Given the description of an element on the screen output the (x, y) to click on. 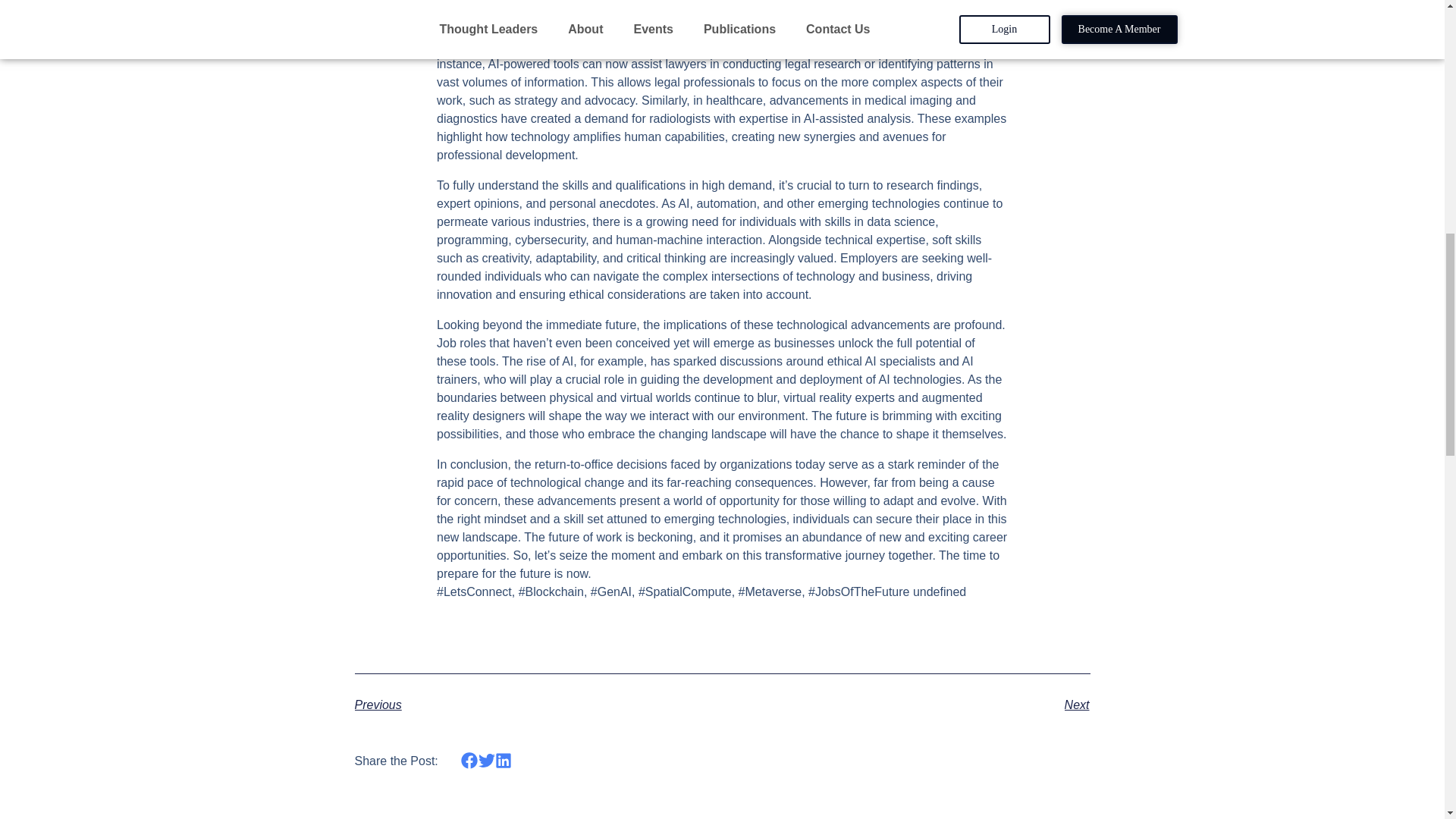
Next (905, 704)
Previous (538, 704)
